Given the description of an element on the screen output the (x, y) to click on. 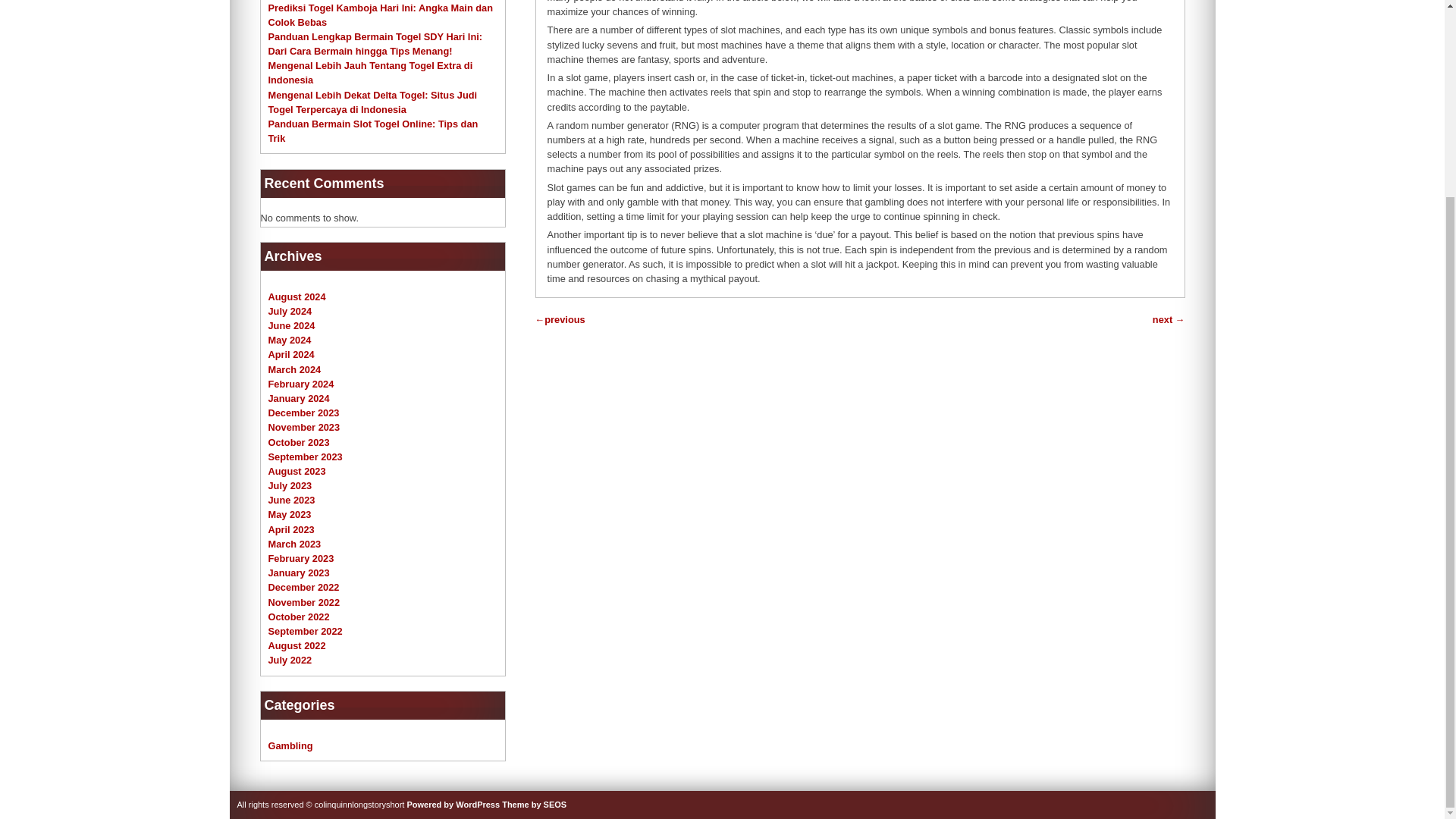
February 2024 (300, 383)
August 2024 (296, 296)
May 2023 (289, 514)
July 2023 (290, 485)
Mengenal Lebih Jauh Tentang Togel Extra di Indonesia (370, 72)
June 2024 (291, 325)
May 2024 (289, 339)
November 2023 (303, 427)
December 2023 (303, 412)
Prediksi Togel Kamboja Hari Ini: Angka Main dan Colok Bebas (380, 14)
